Given the description of an element on the screen output the (x, y) to click on. 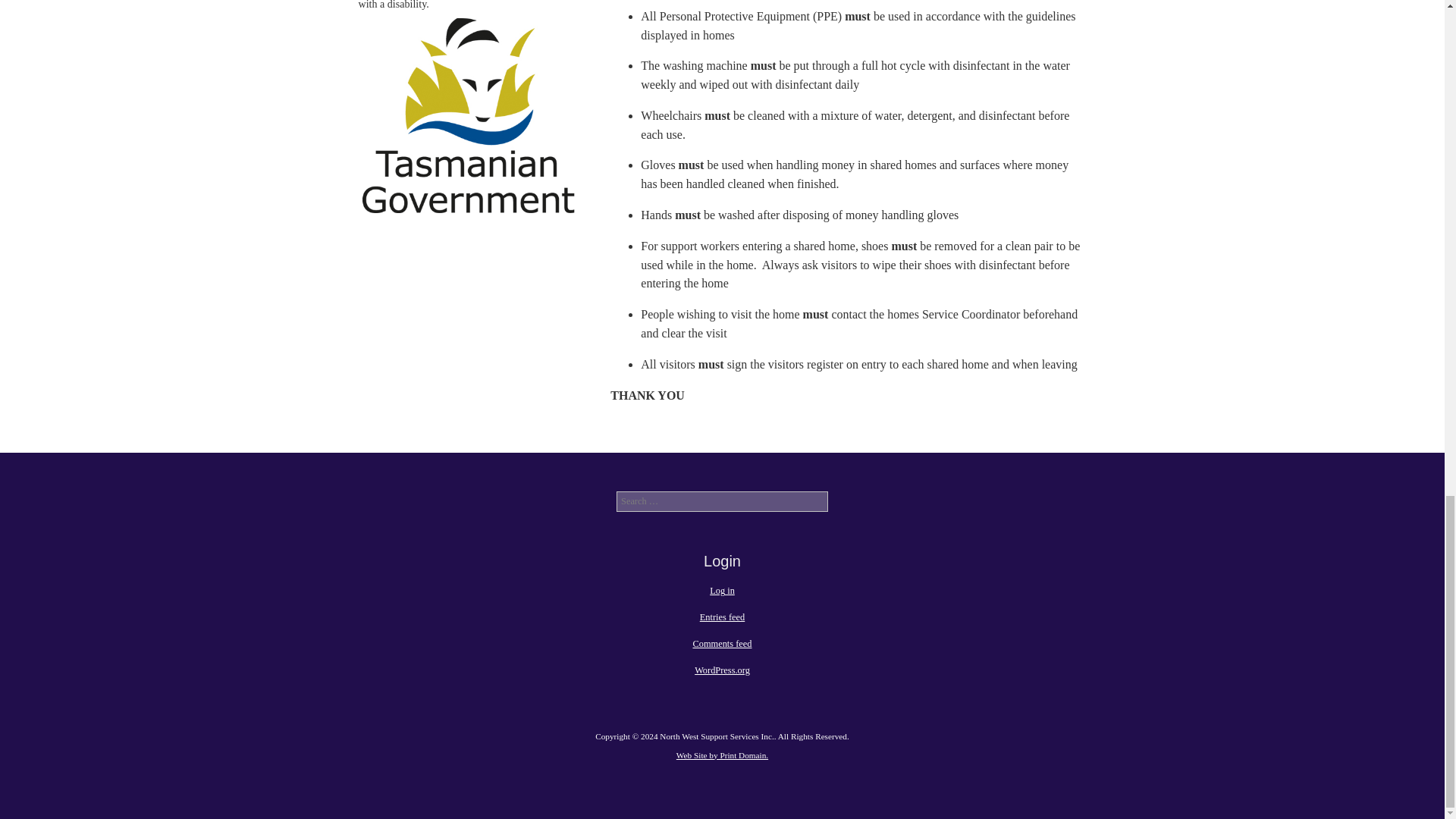
Web site by Print Domain (722, 755)
